Given the description of an element on the screen output the (x, y) to click on. 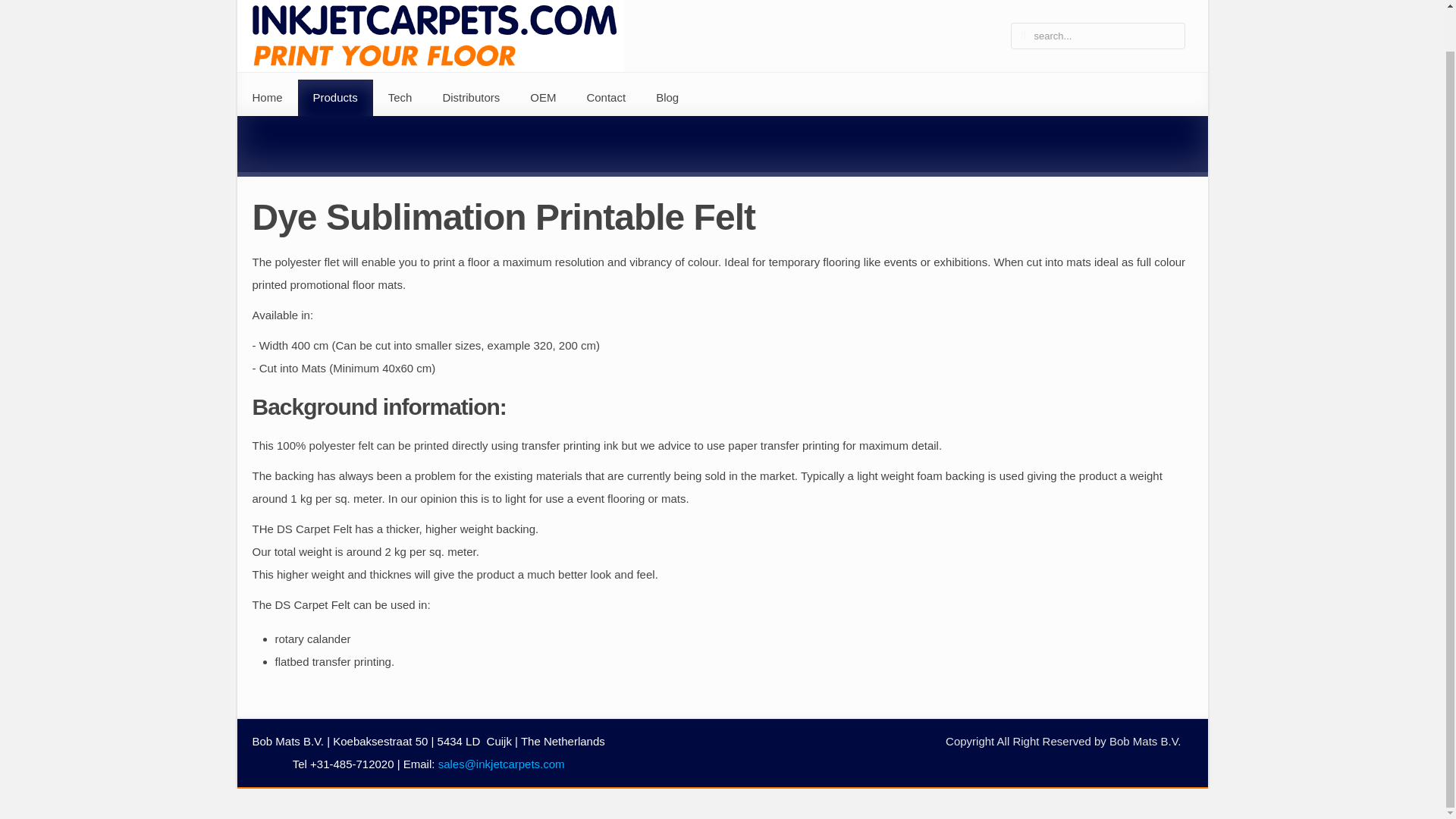
Contact (605, 97)
Products (335, 97)
Distributors (470, 97)
Home (266, 97)
Tech (400, 97)
OEM (542, 97)
Blog (667, 97)
